Given the description of an element on the screen output the (x, y) to click on. 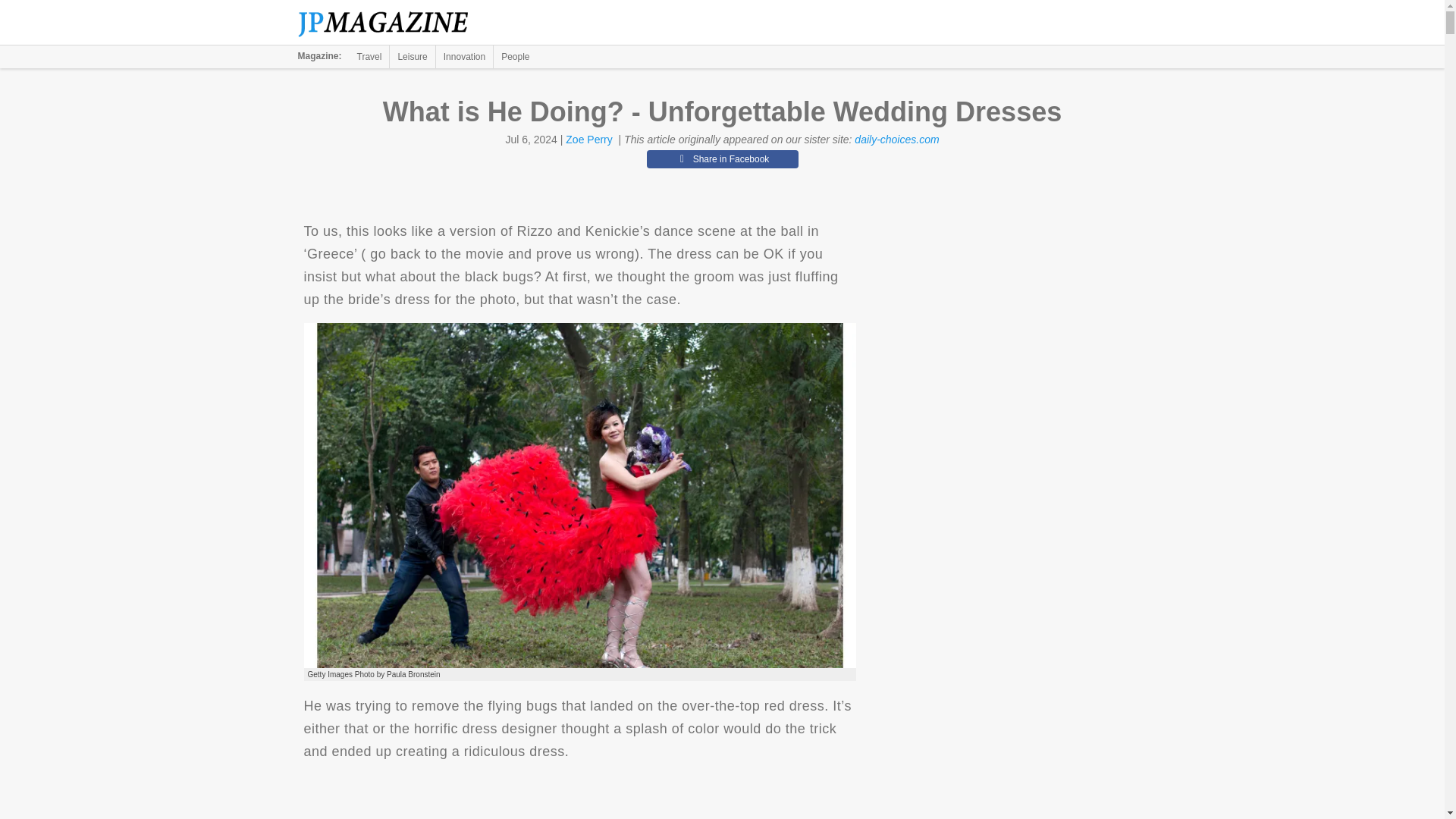
Share in Facebook (721, 158)
daily-choices.com (896, 139)
Travel (369, 56)
Zoe Perry (588, 139)
The Jerusalem Post Magazine (391, 22)
Leisure (411, 56)
People (515, 56)
Innovation (464, 56)
